Given the description of an element on the screen output the (x, y) to click on. 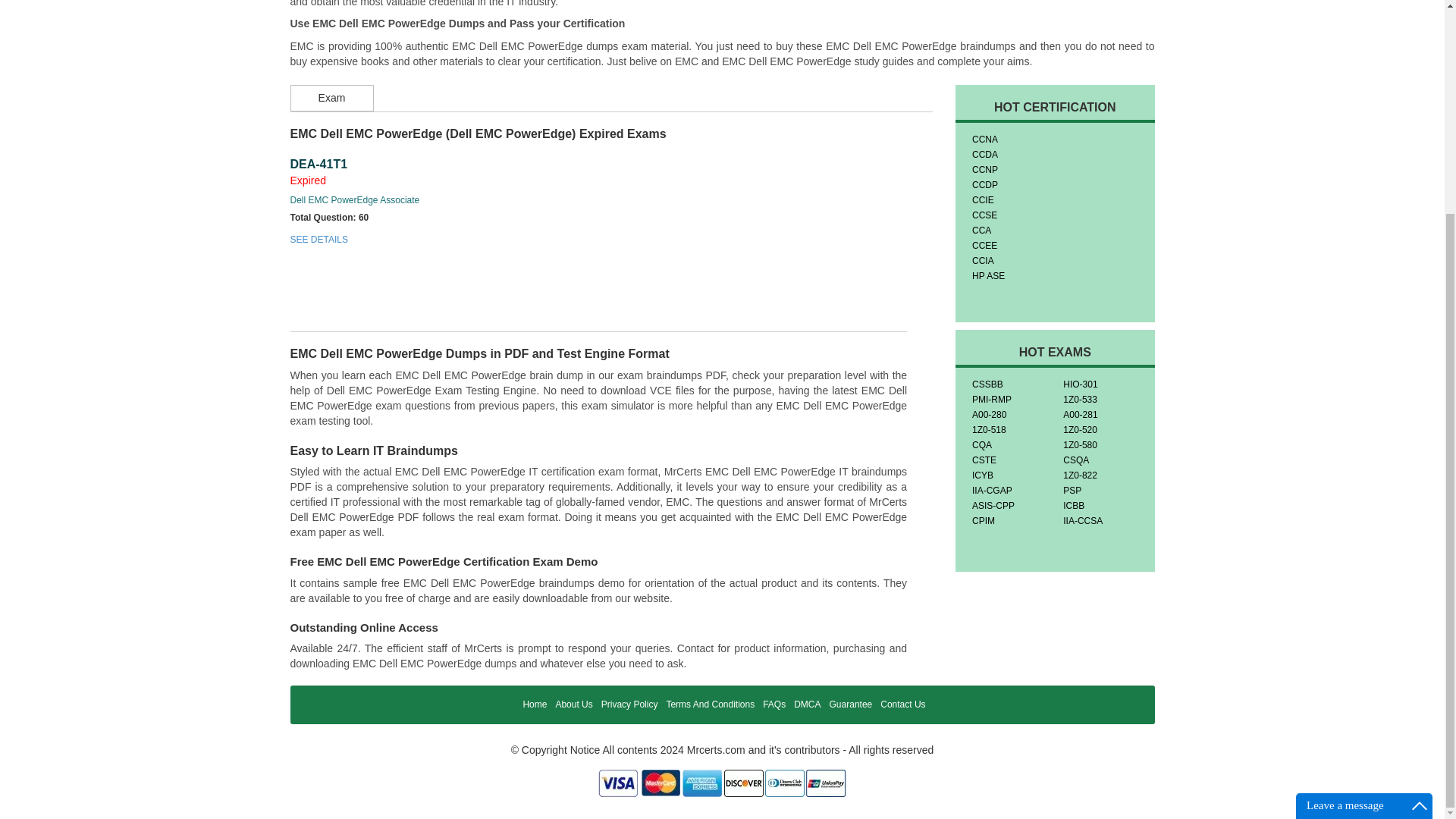
1Z0-518 (989, 429)
PMI-RMP (991, 398)
DEA-41T1 (318, 164)
CSSBB (987, 384)
CCSE (984, 214)
SEE DETAILS (318, 239)
A00-280 (989, 414)
1Z0-533 (1079, 398)
HP ASE (988, 276)
CCA (981, 230)
Exam (330, 98)
CCEE (984, 245)
CCDP (984, 184)
A00-281 (1079, 414)
HIO-301 (1079, 384)
